Given the description of an element on the screen output the (x, y) to click on. 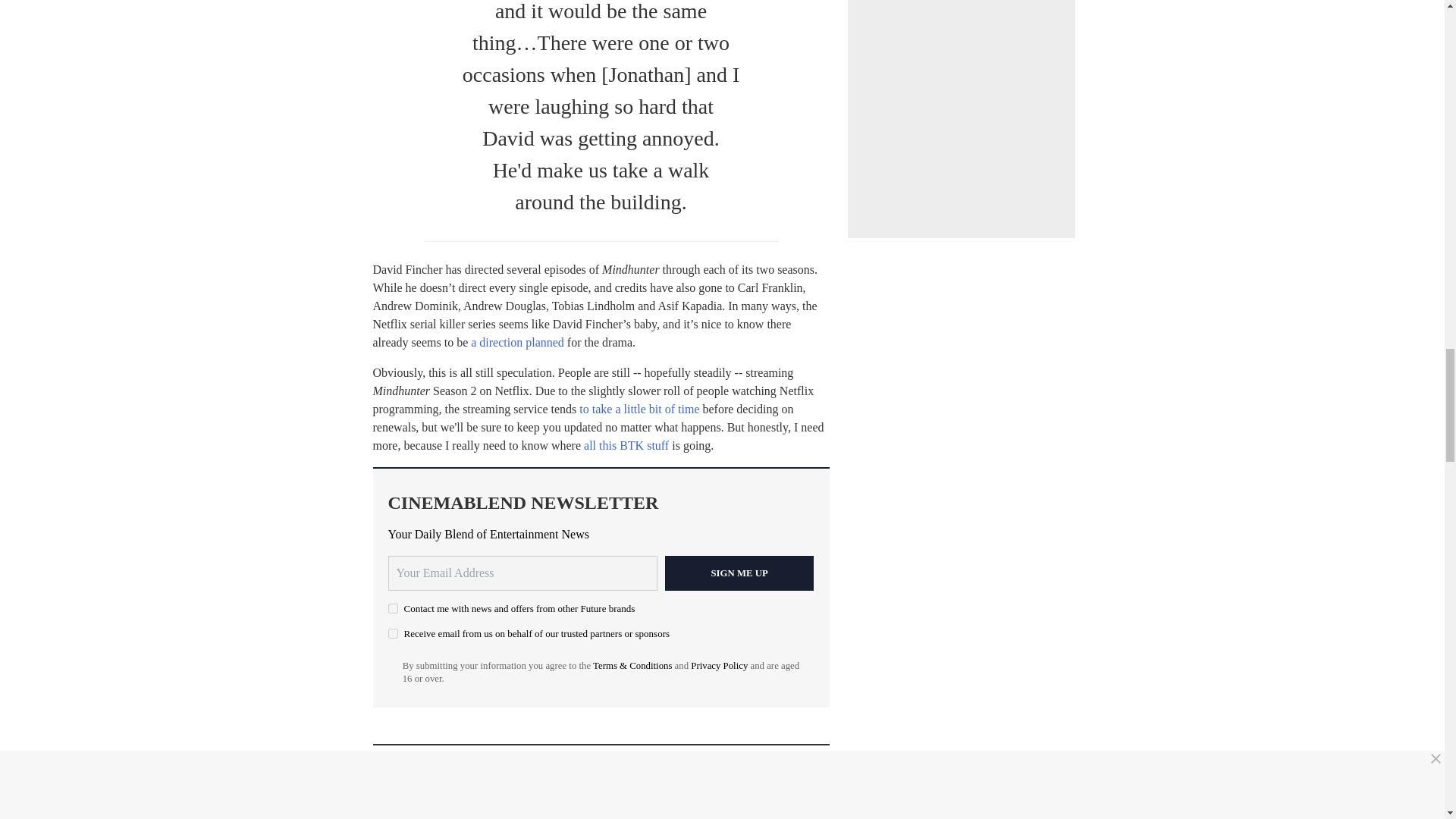
on (392, 608)
Sign me up (739, 573)
on (392, 633)
